Given the description of an element on the screen output the (x, y) to click on. 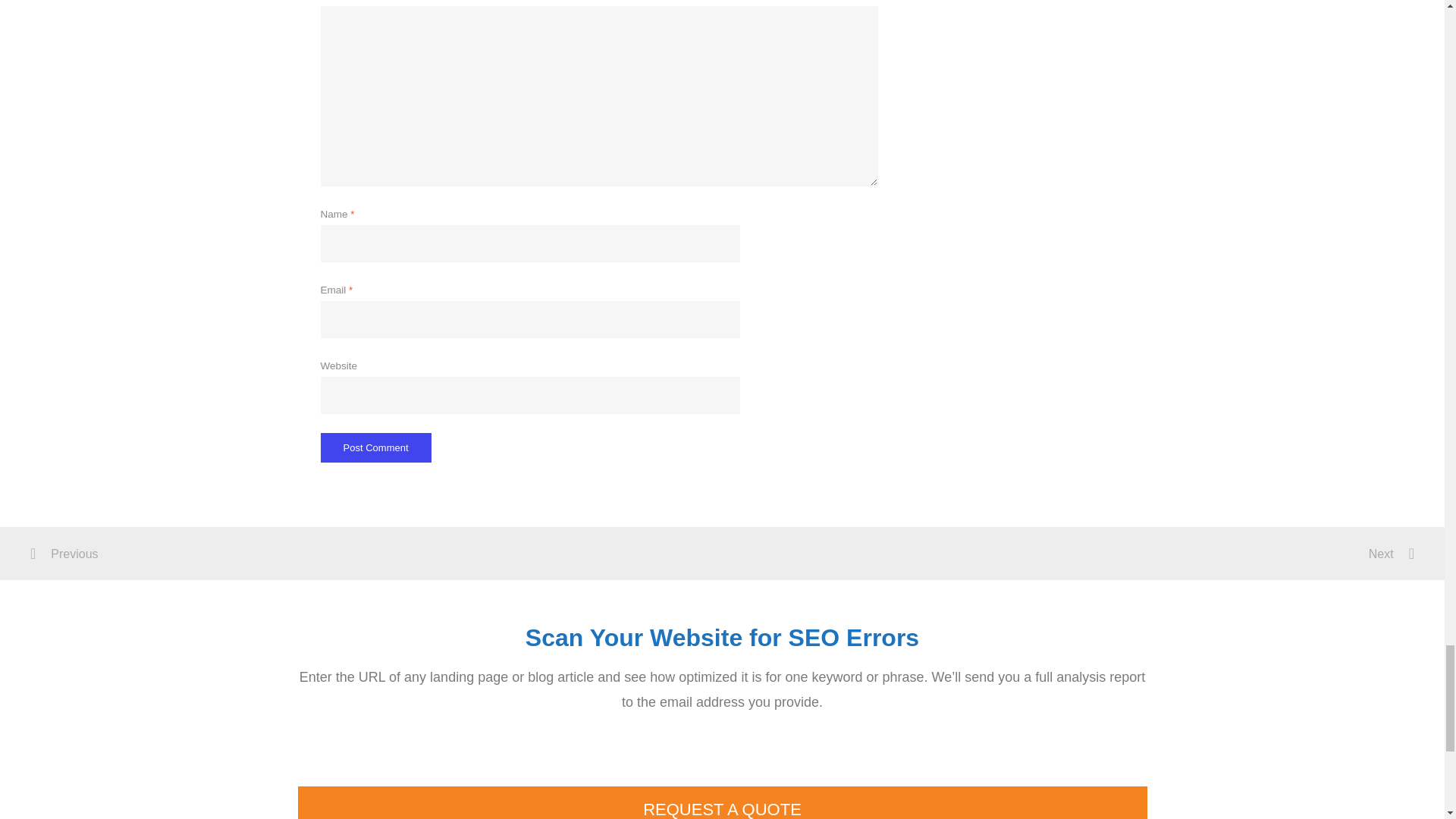
Post Comment (375, 447)
